Given the description of an element on the screen output the (x, y) to click on. 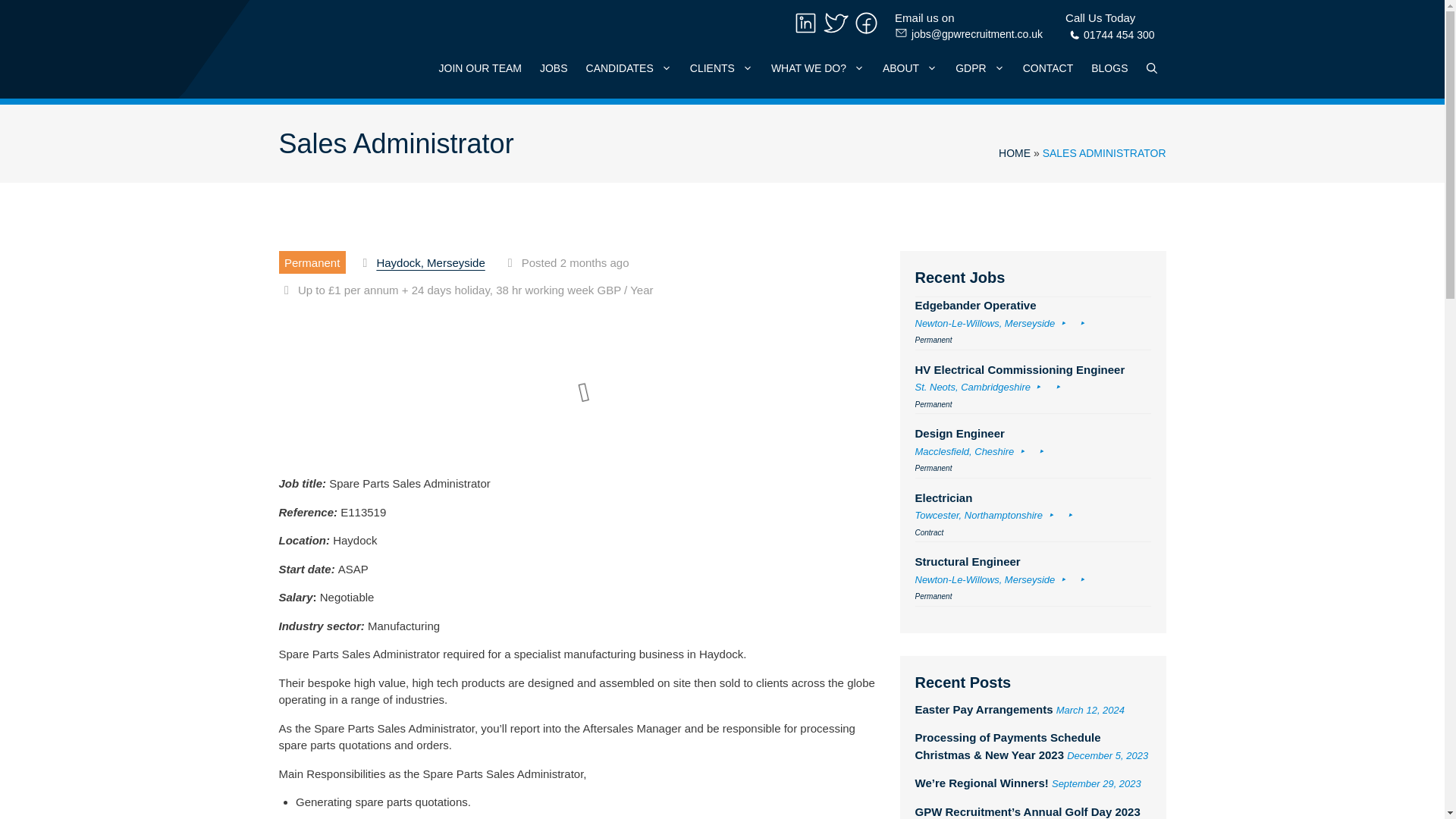
Click to Call: 01744 454 300 (1109, 35)
ABOUT (909, 67)
CLIENTS (721, 67)
CANDIDATES (628, 67)
JOIN OUR TEAM (480, 67)
WHAT WE DO? (1109, 35)
